Given the description of an element on the screen output the (x, y) to click on. 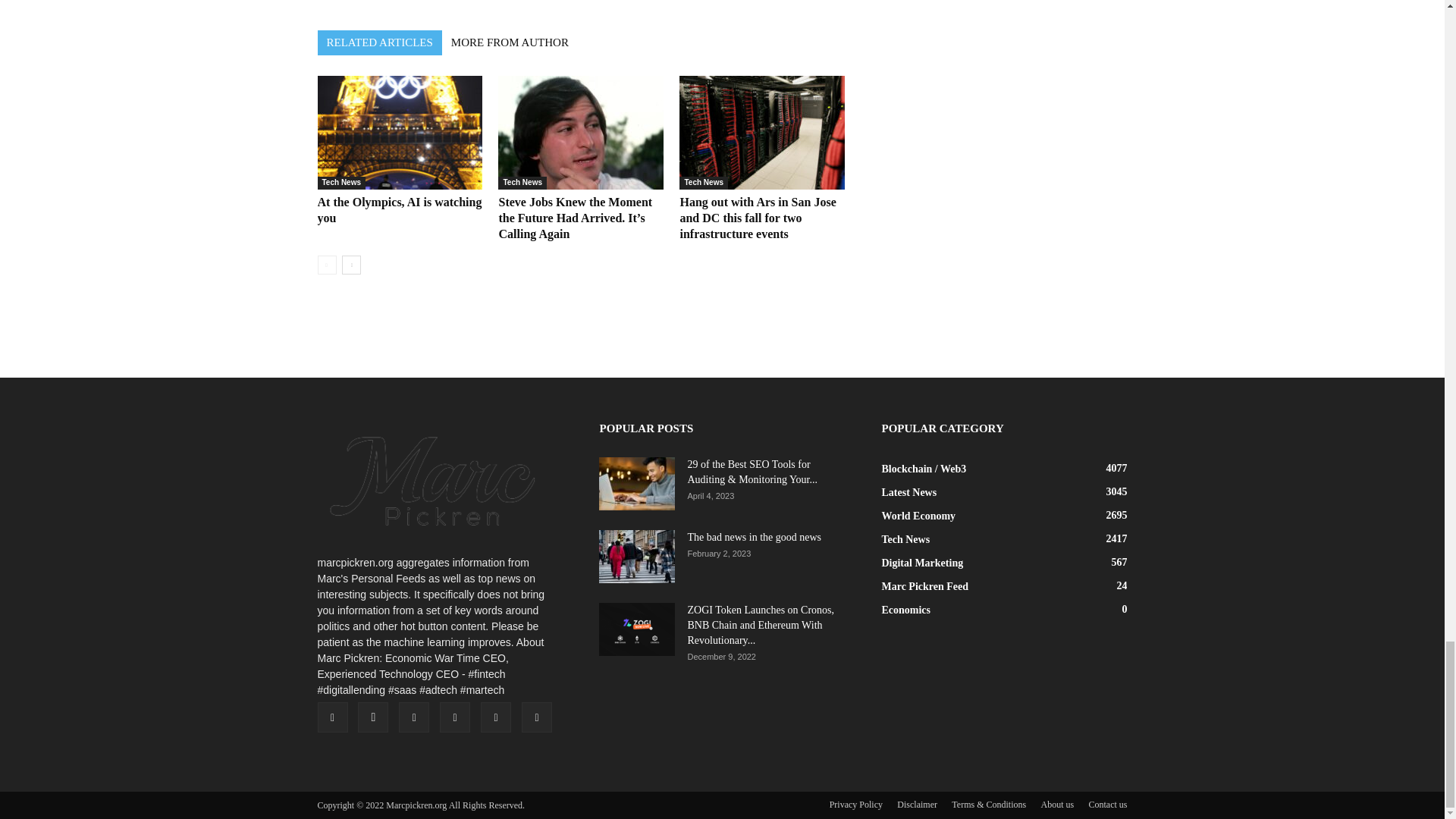
At the Olympics, AI is watching you (399, 132)
At the Olympics, AI is watching you (399, 209)
